Given the description of an element on the screen output the (x, y) to click on. 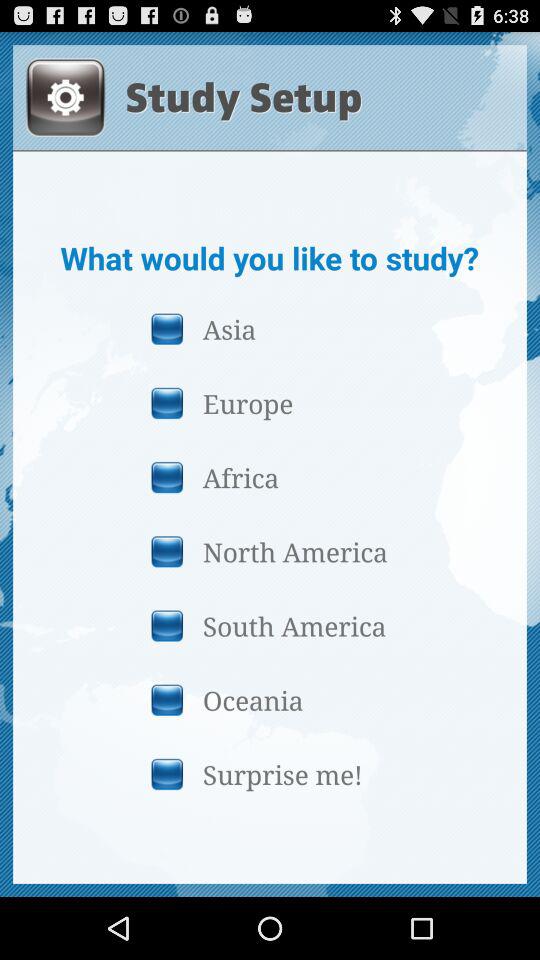
jump to the europe (269, 402)
